Given the description of an element on the screen output the (x, y) to click on. 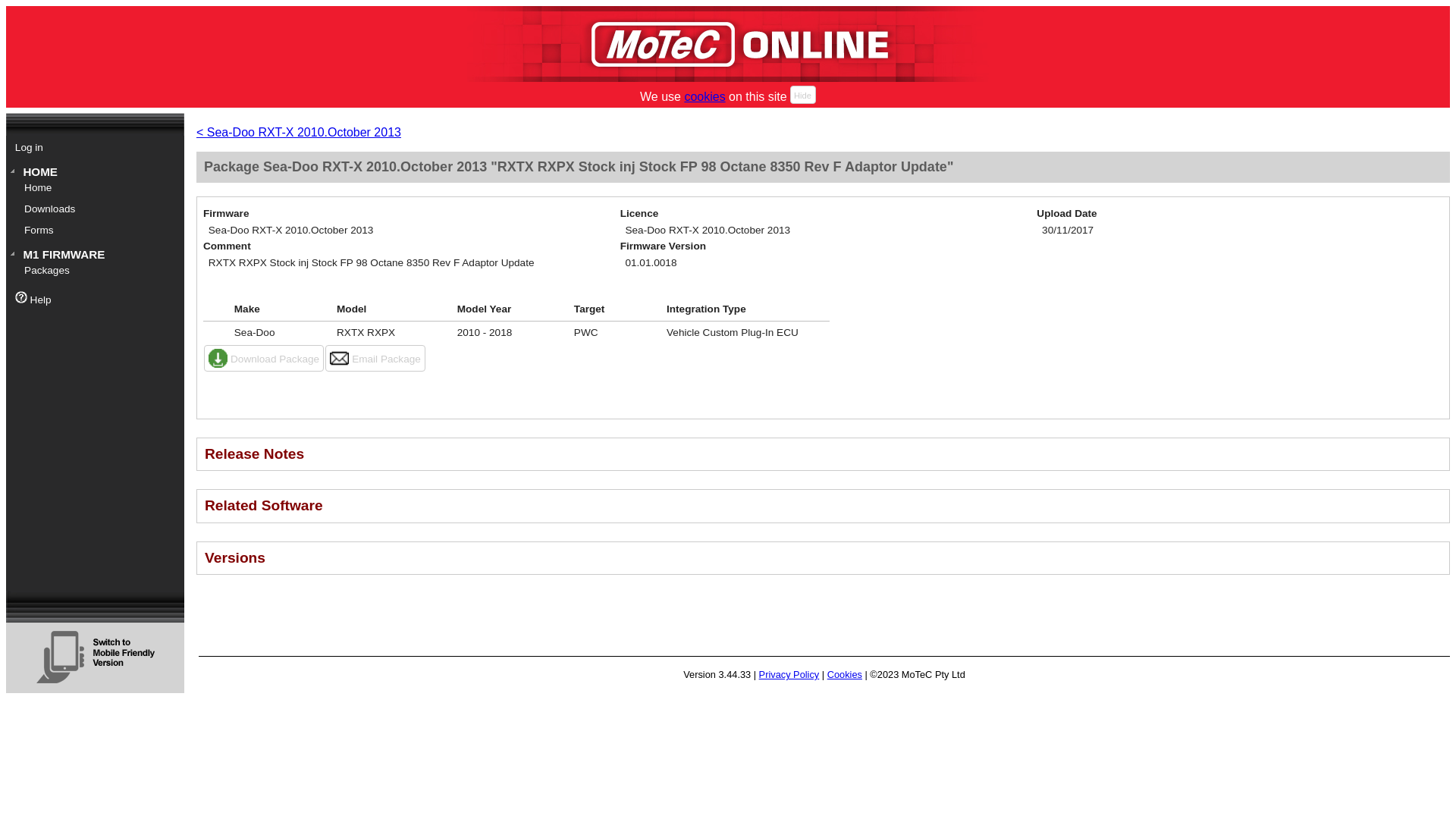
Forms (99, 230)
Packages (99, 270)
Cookies (844, 674)
Email Package (374, 357)
M1 FIRMWARE (94, 254)
cookies (704, 96)
Download Package (263, 357)
HOME (94, 172)
Help (94, 299)
Home (99, 188)
